Given the description of an element on the screen output the (x, y) to click on. 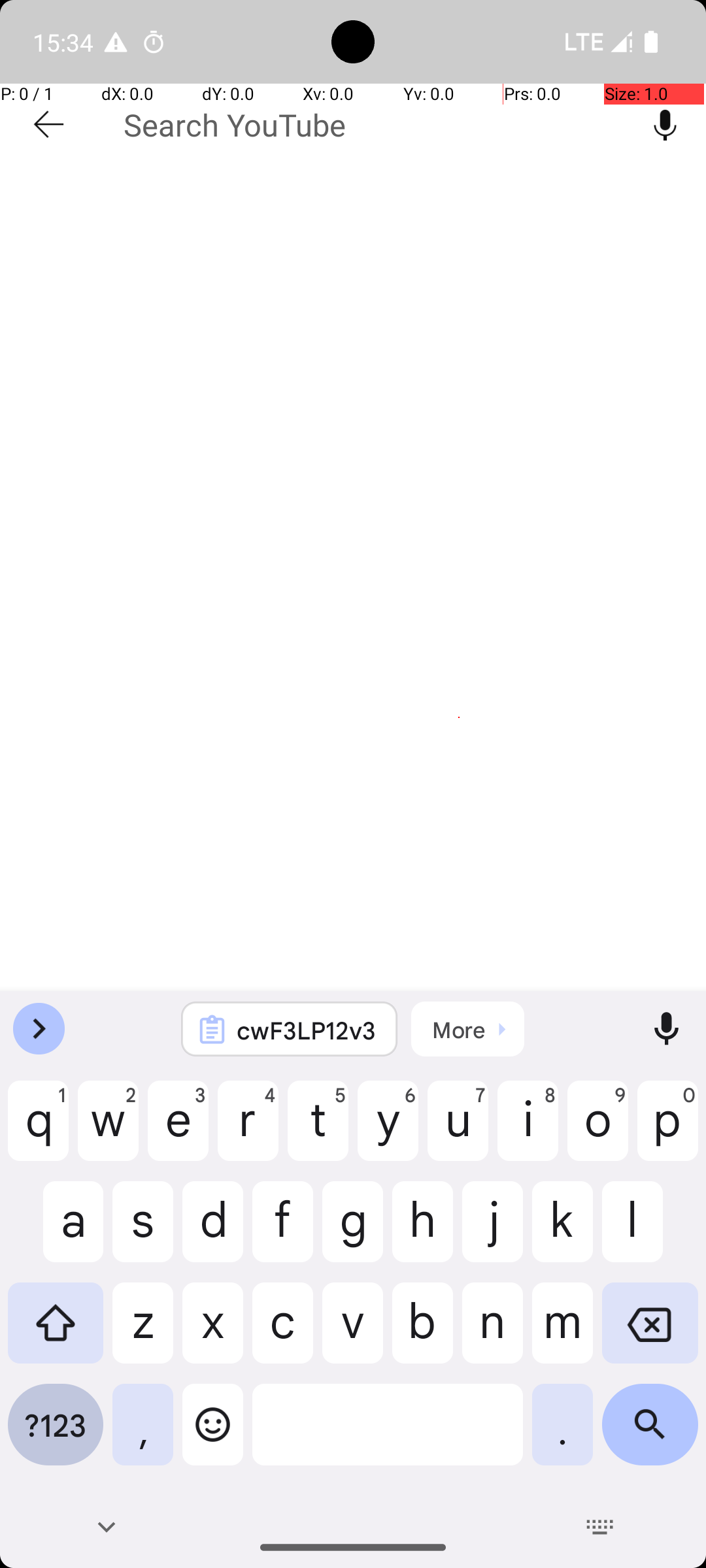
Search YouTube Element type: android.widget.EditText (373, 124)
cwF3LP12v3 Element type: android.widget.TextView (306, 1029)
